Given the description of an element on the screen output the (x, y) to click on. 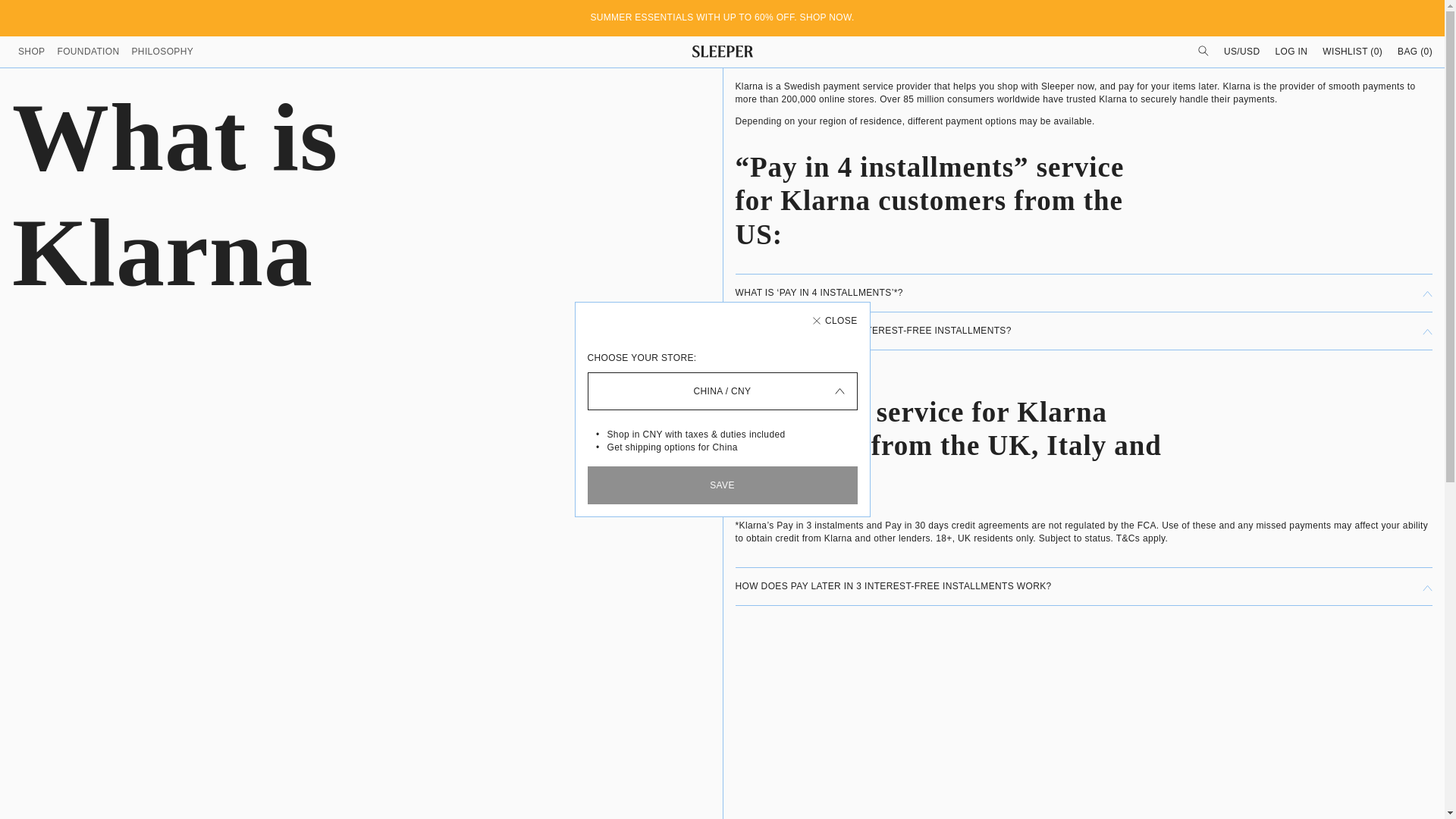
What is Klarna (273, 195)
